Given the description of an element on the screen output the (x, y) to click on. 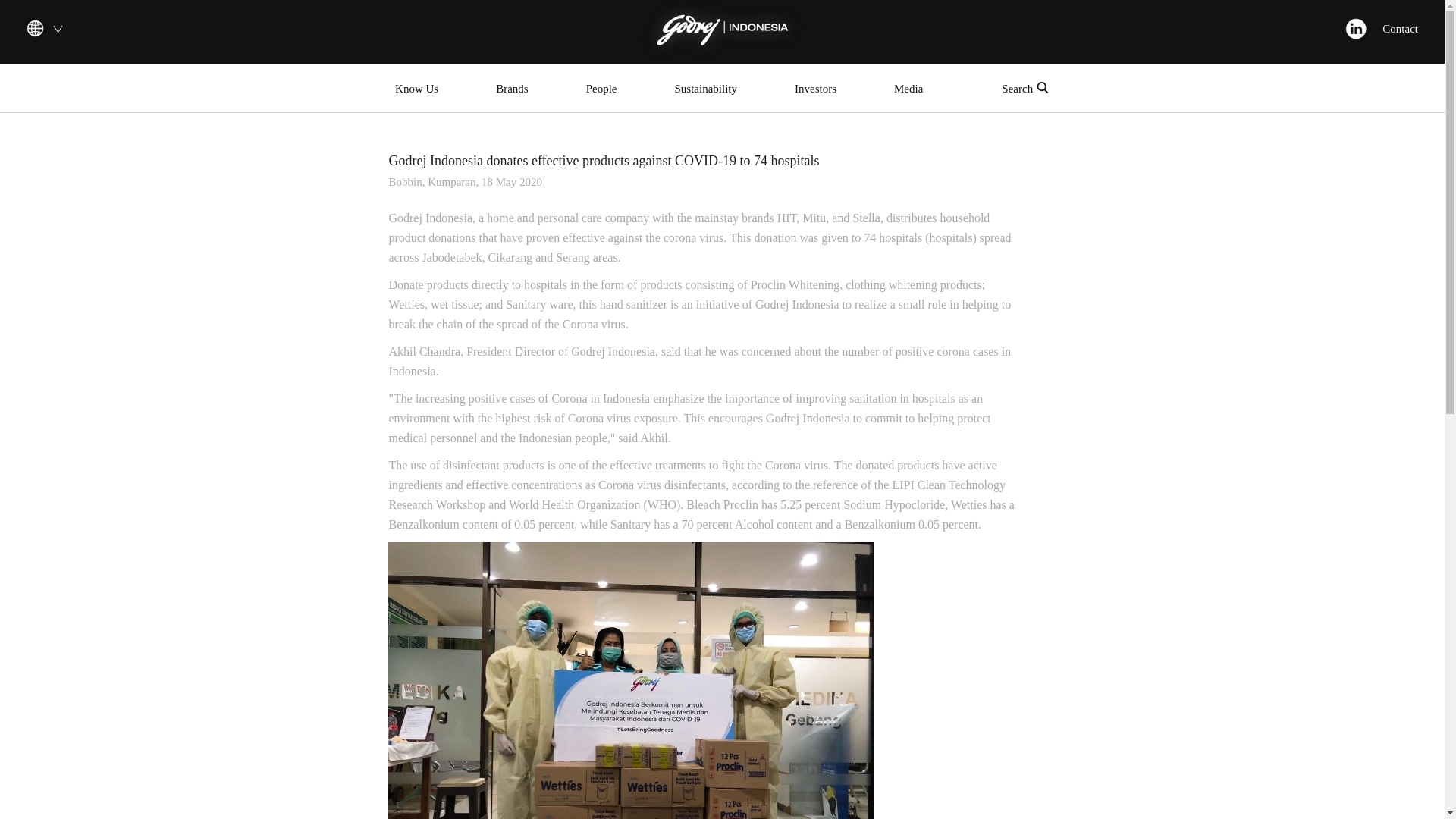
Contact (1399, 29)
People (602, 90)
Brands (512, 90)
Sustainability (705, 90)
Know Us (416, 90)
